Given the description of an element on the screen output the (x, y) to click on. 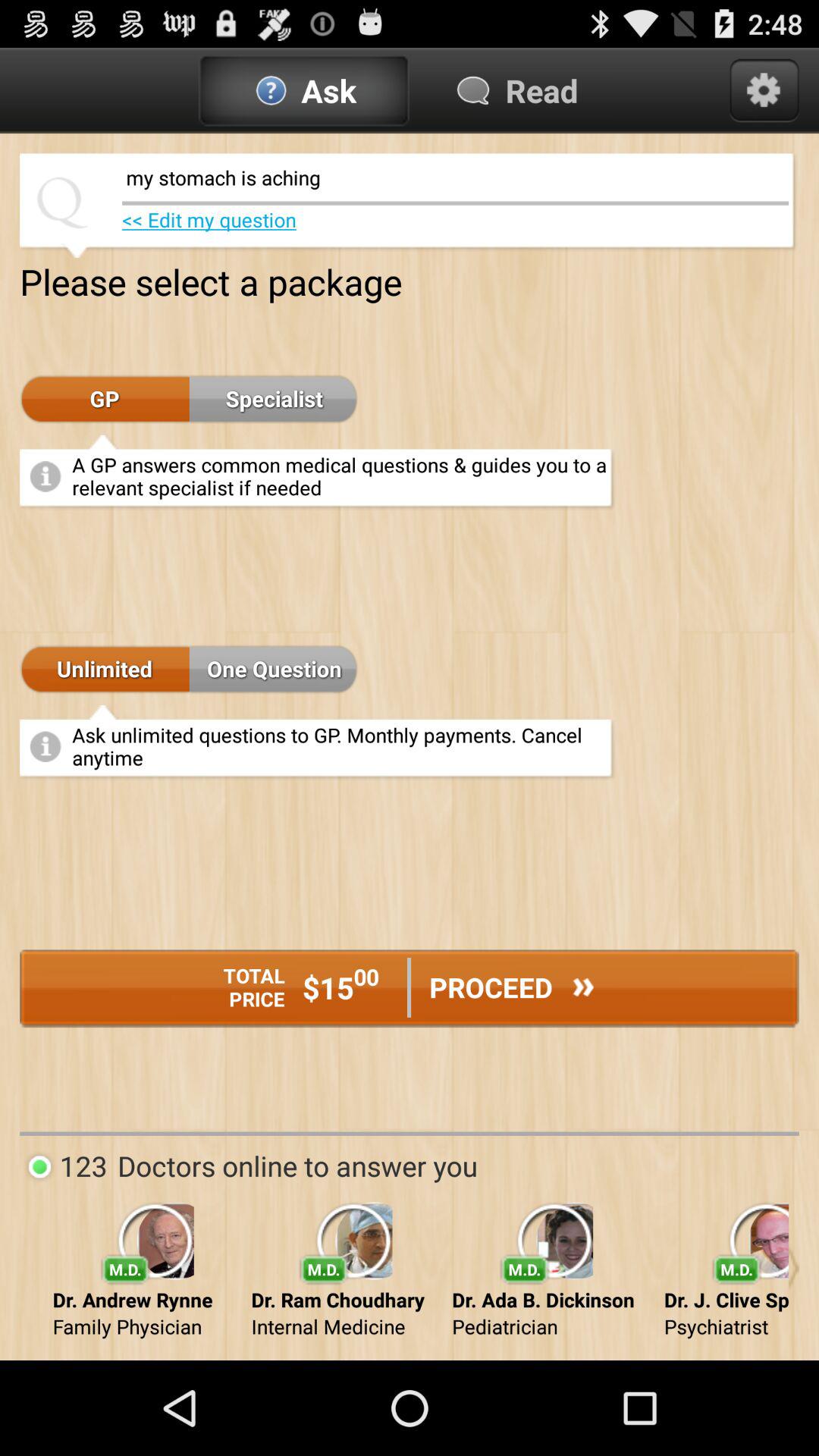
choose app to the right of the read icon (764, 90)
